Given the description of an element on the screen output the (x, y) to click on. 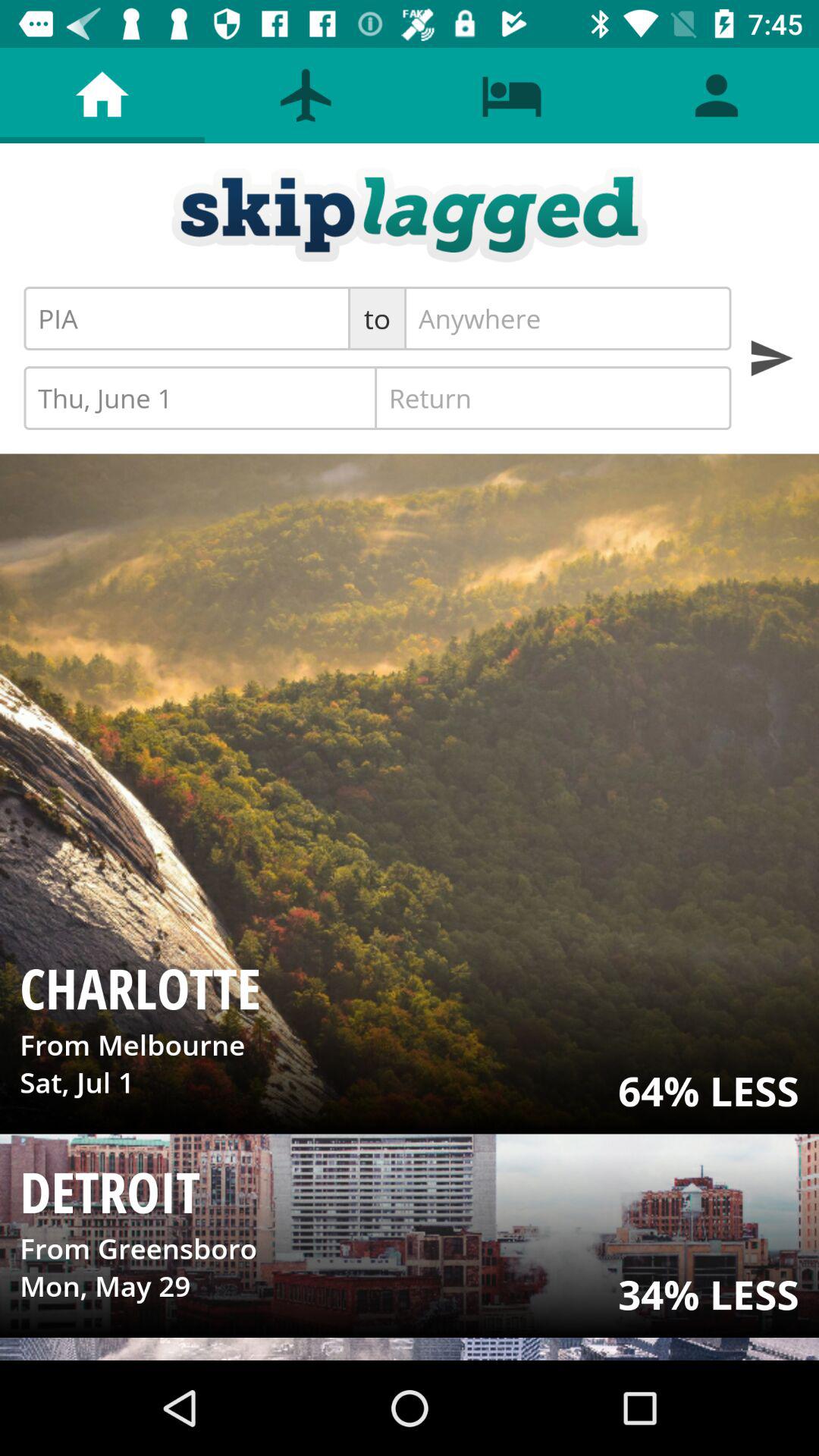
turn on item to the right of the to icon (567, 318)
